Given the description of an element on the screen output the (x, y) to click on. 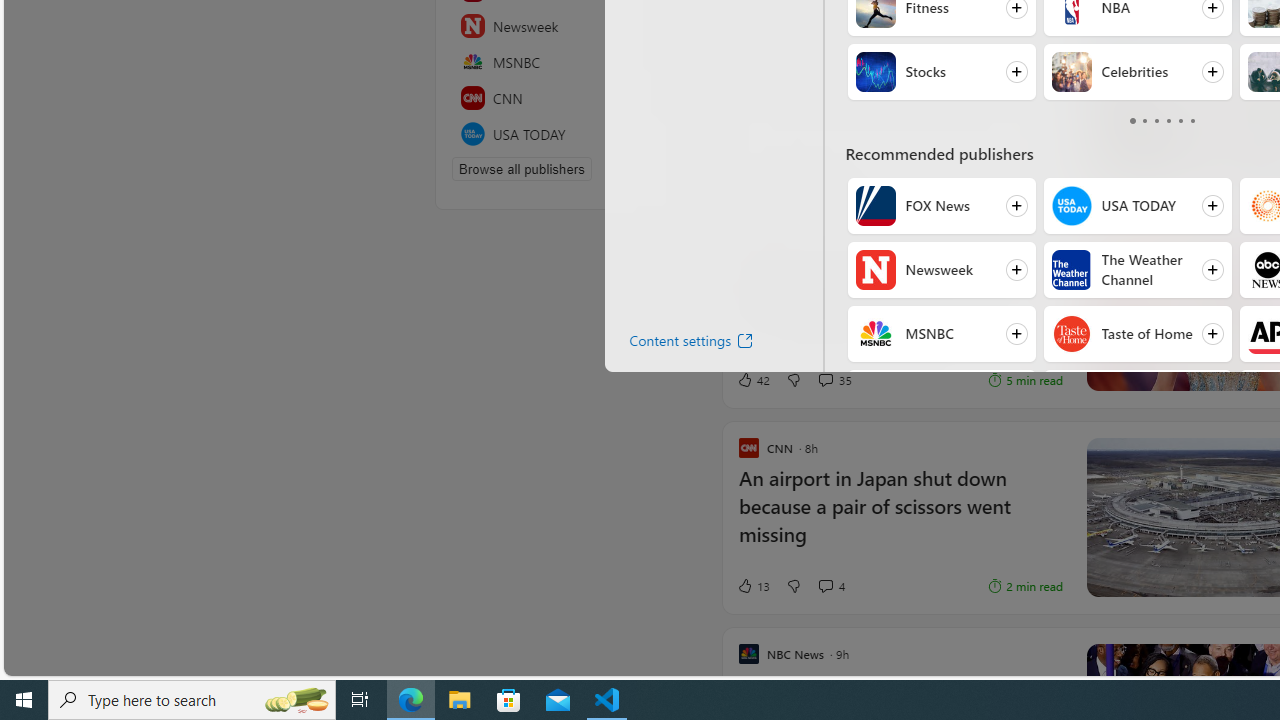
The Weather Channel (1070, 269)
13 Like (753, 585)
Follow FOX News (941, 205)
42 Like (753, 379)
Celebrities (1070, 71)
Comparables.ai (812, 179)
Use AI To Find Relevant Comps (878, 102)
Newsweek (555, 25)
CNN (555, 97)
Dislike (793, 585)
Browse all publishers (521, 168)
Follow USA TODAY (1137, 205)
Follow Celebrities (1137, 71)
